Given the description of an element on the screen output the (x, y) to click on. 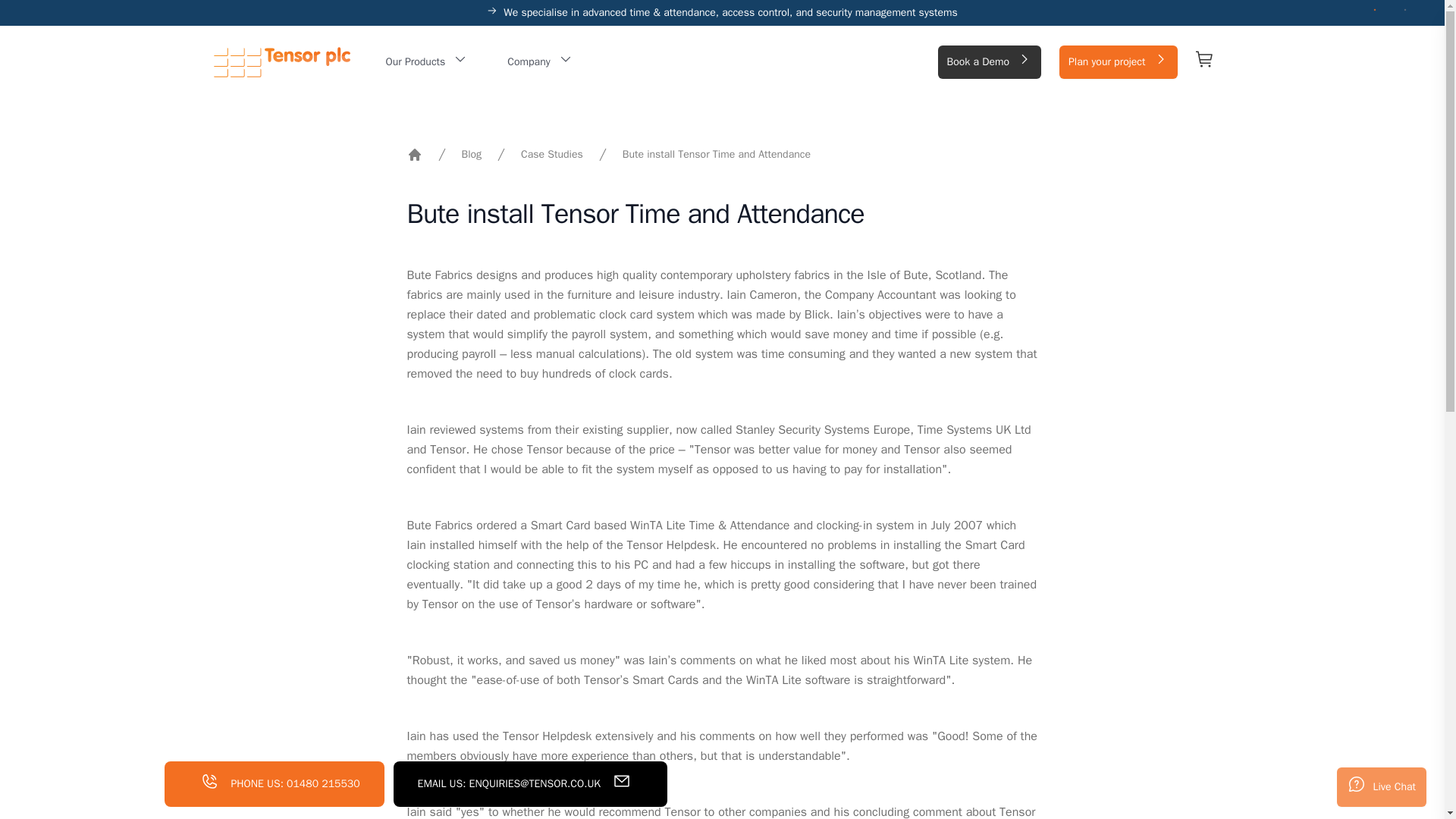
Company (539, 62)
Live Chat (1381, 786)
Our Products (426, 62)
